Given the description of an element on the screen output the (x, y) to click on. 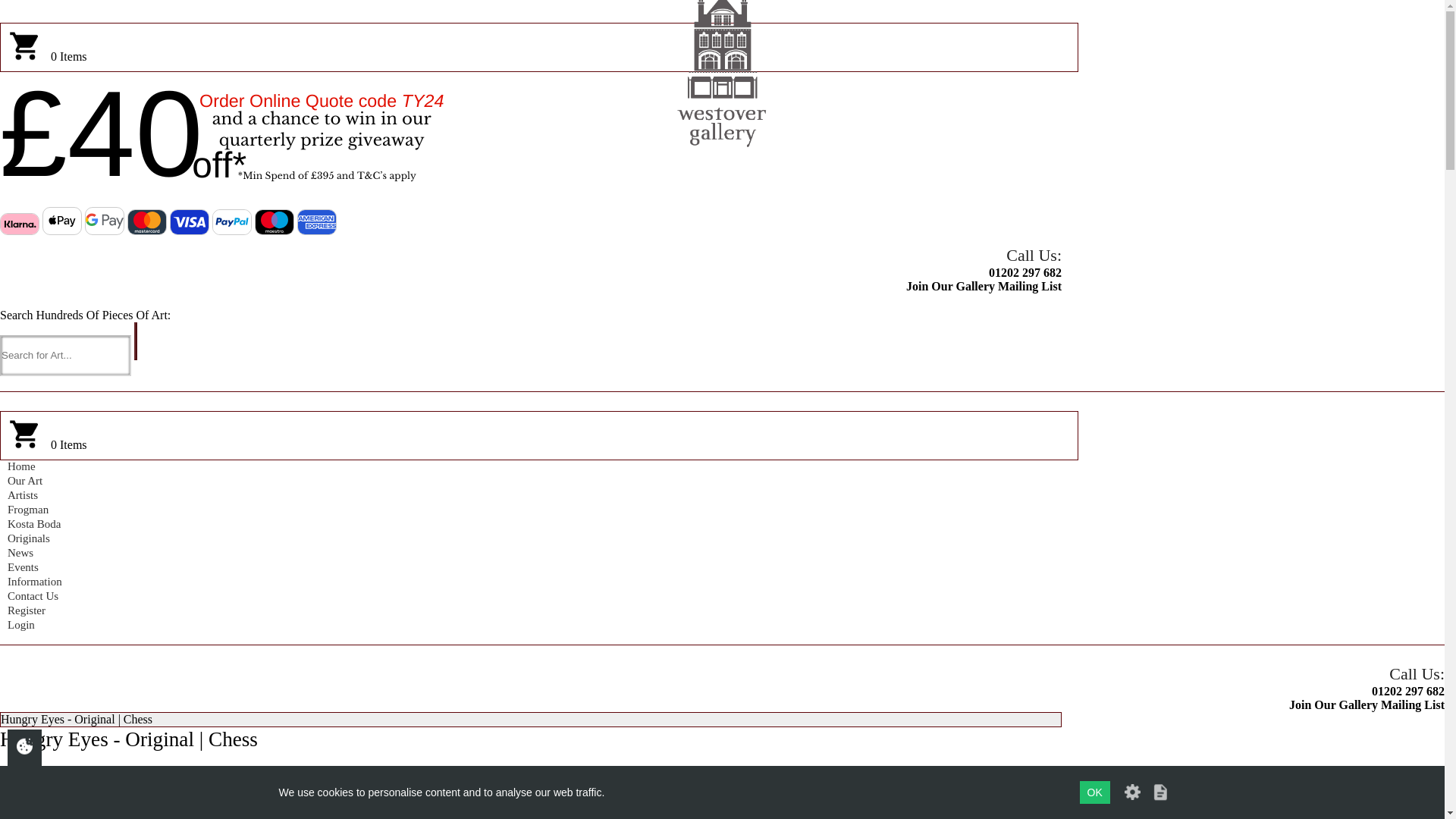
Home (530, 467)
Join Our Gallery Mailing List (530, 286)
0 Items (539, 444)
Our Art (530, 481)
Join Our Gallery Mailing List (530, 286)
0 Items (539, 56)
01202 297 682 (530, 273)
